Given the description of an element on the screen output the (x, y) to click on. 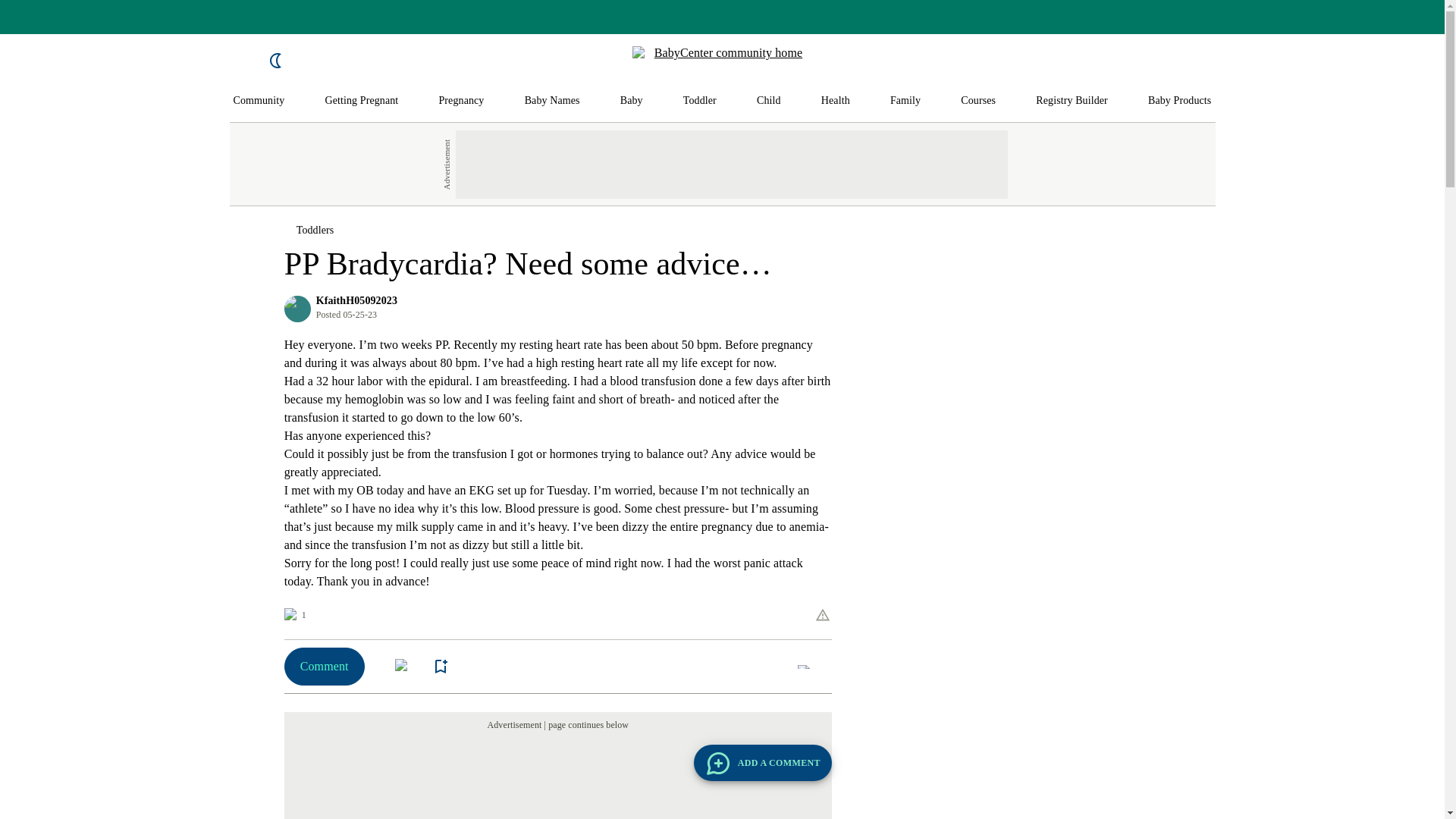
Baby (631, 101)
Family (904, 101)
Pregnancy (460, 101)
Baby Names (551, 101)
Child (768, 101)
Getting Pregnant (360, 101)
Health (835, 101)
Toddler (699, 101)
Community (258, 101)
Courses (977, 101)
